Given the description of an element on the screen output the (x, y) to click on. 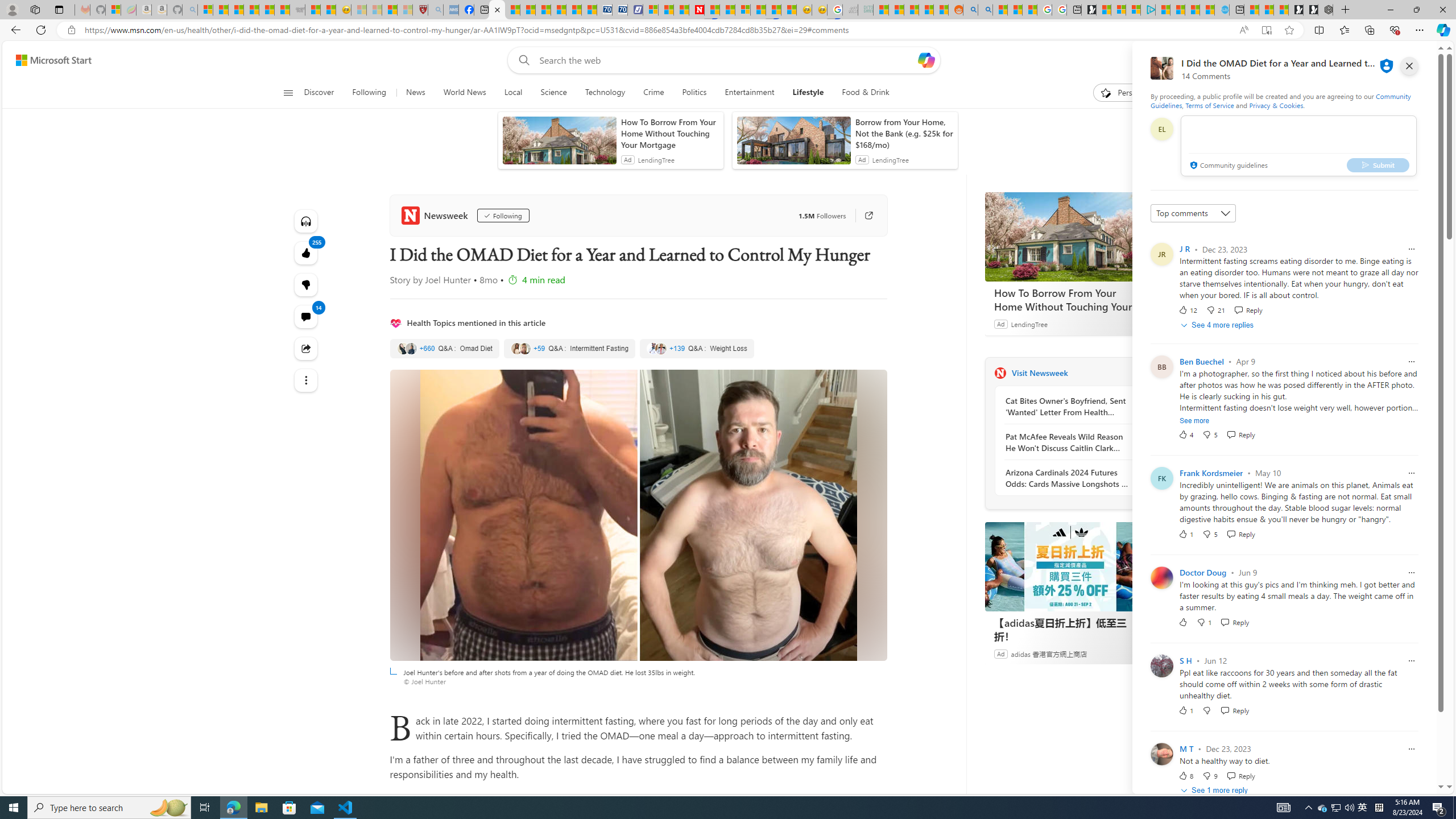
Submit (1377, 164)
comment-box (1298, 145)
